Given the description of an element on the screen output the (x, y) to click on. 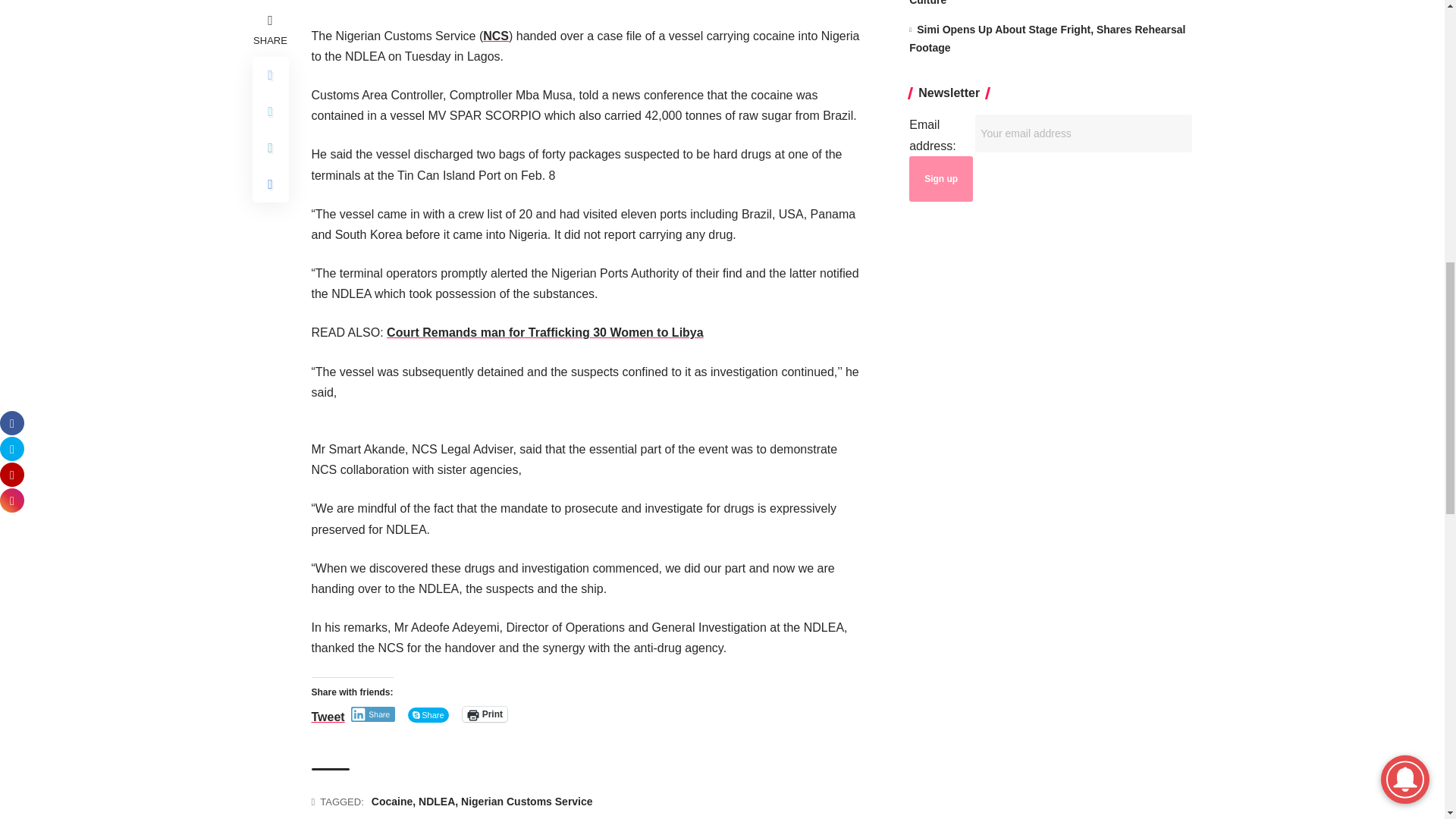
Click to print (484, 713)
Sign up (940, 178)
Share on Skype (427, 714)
